Given the description of an element on the screen output the (x, y) to click on. 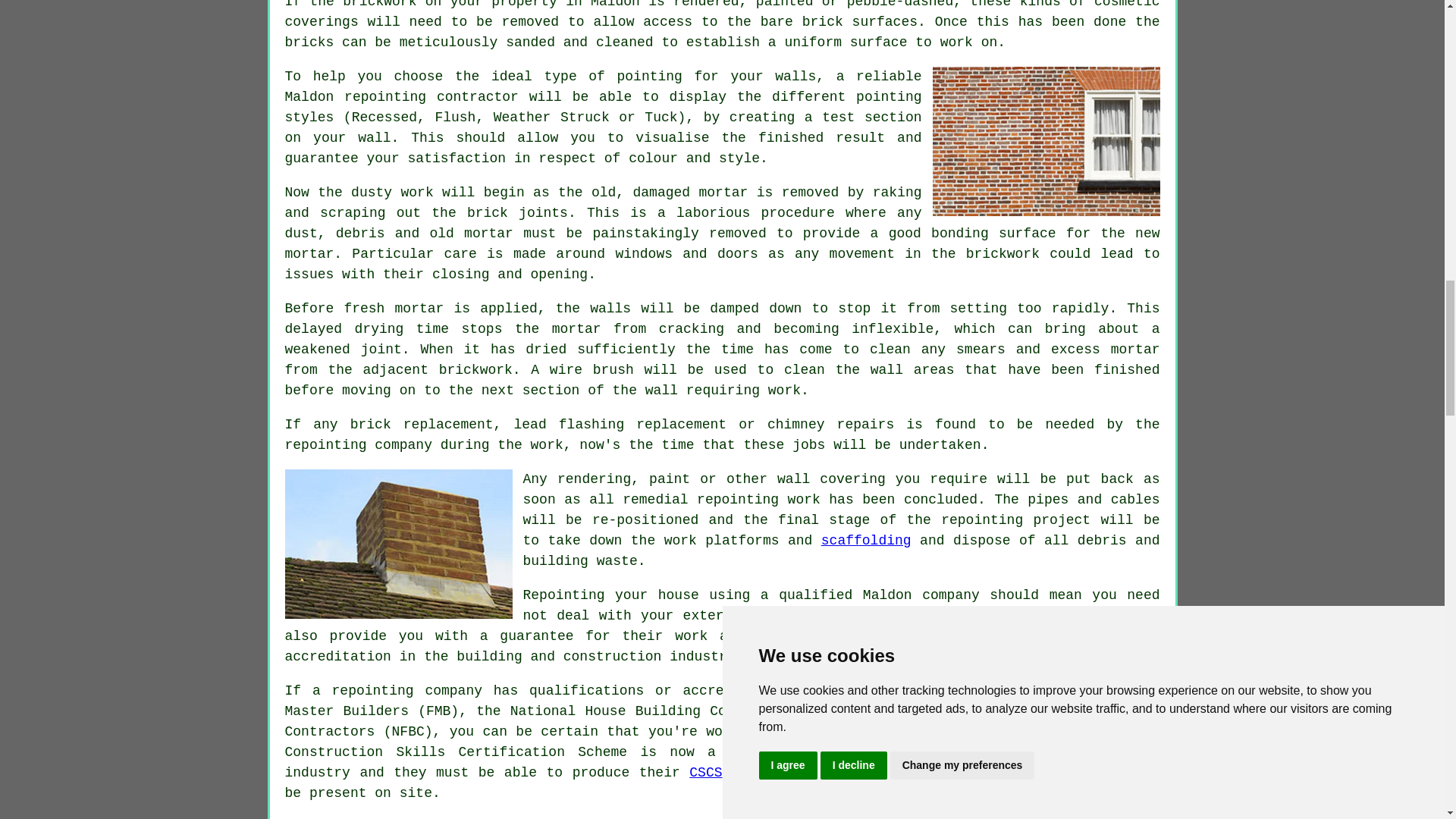
new mortar (722, 243)
cracking (691, 328)
